Given the description of an element on the screen output the (x, y) to click on. 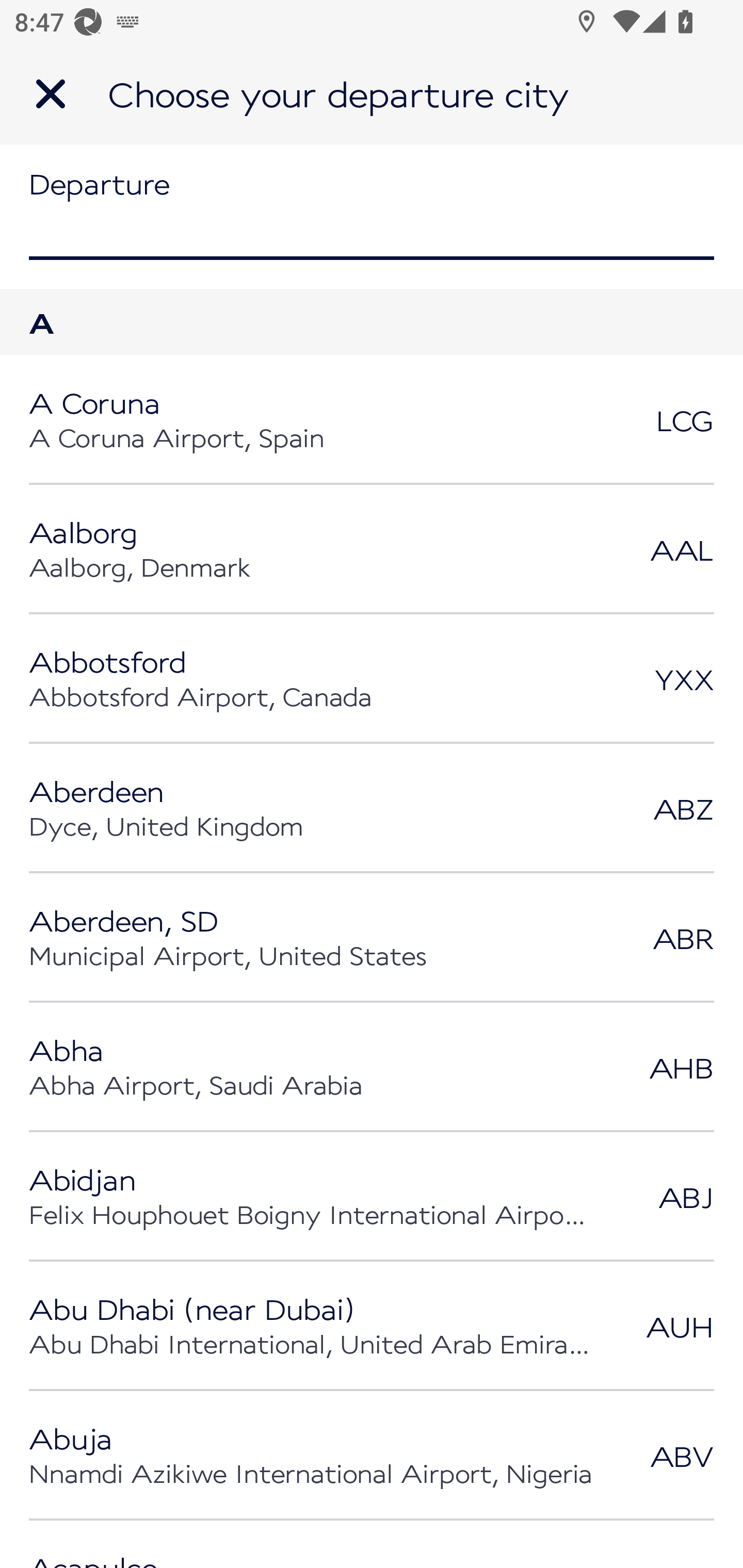
Navigate up (50, 93)
Departure (371, 217)
A Coruna A Coruna Airport, Spain LCG (371, 419)
Aalborg Aalborg, Denmark AAL (371, 549)
Abbotsford Abbotsford Airport, Canada YXX (371, 678)
Aberdeen Dyce, United Kingdom ABZ (371, 808)
Aberdeen, SD Municipal Airport, United States ABR (371, 937)
Abha Abha Airport, Saudi Arabia AHB (371, 1066)
